Given the description of an element on the screen output the (x, y) to click on. 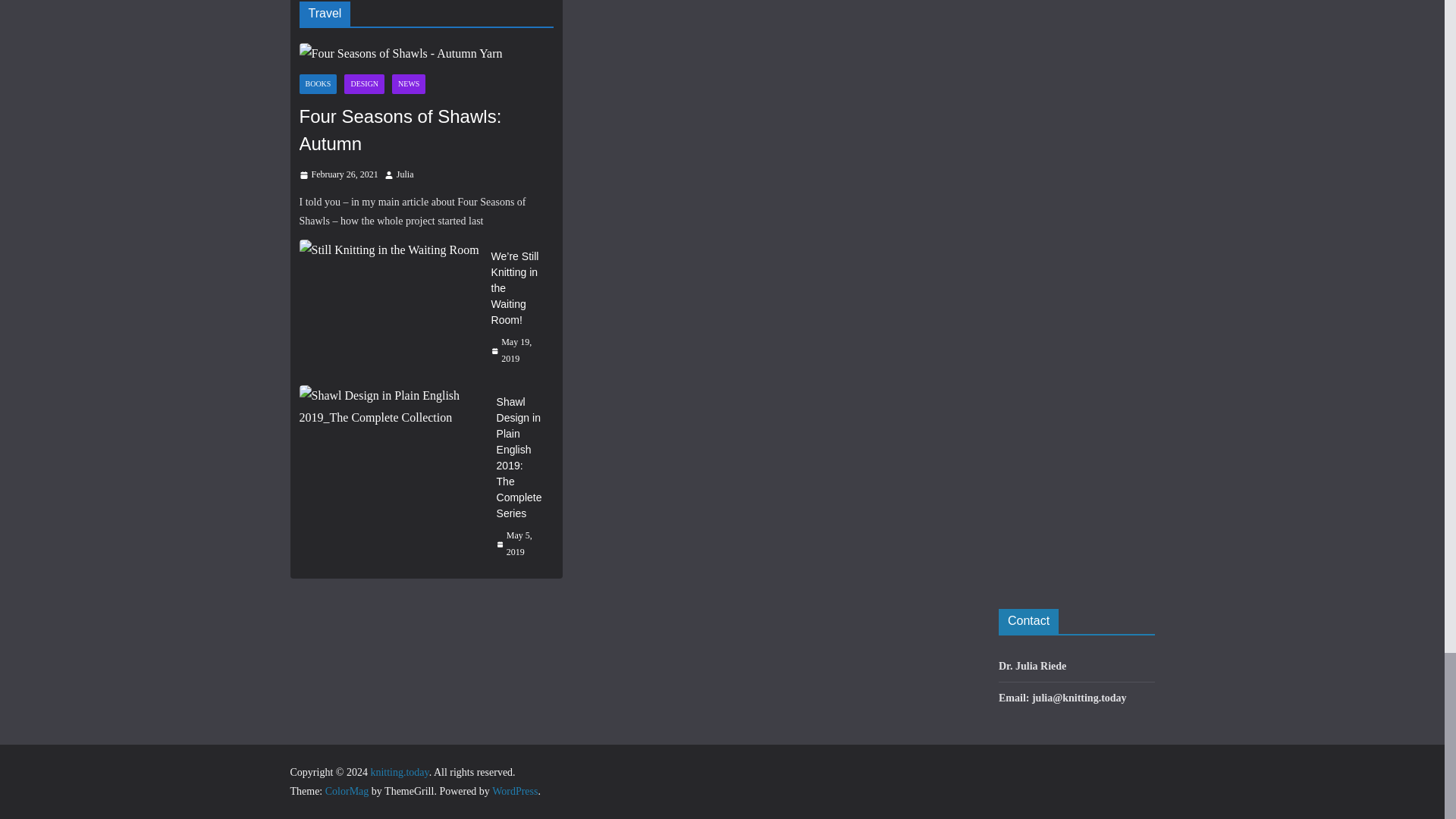
10:00 am (337, 175)
Four Seasons of Shawls: Autumn (425, 54)
Julia (404, 175)
6:21 pm (516, 350)
Four Seasons of Shawls: Autumn (425, 130)
Four Seasons of Shawls: Autumn (400, 54)
